Given the description of an element on the screen output the (x, y) to click on. 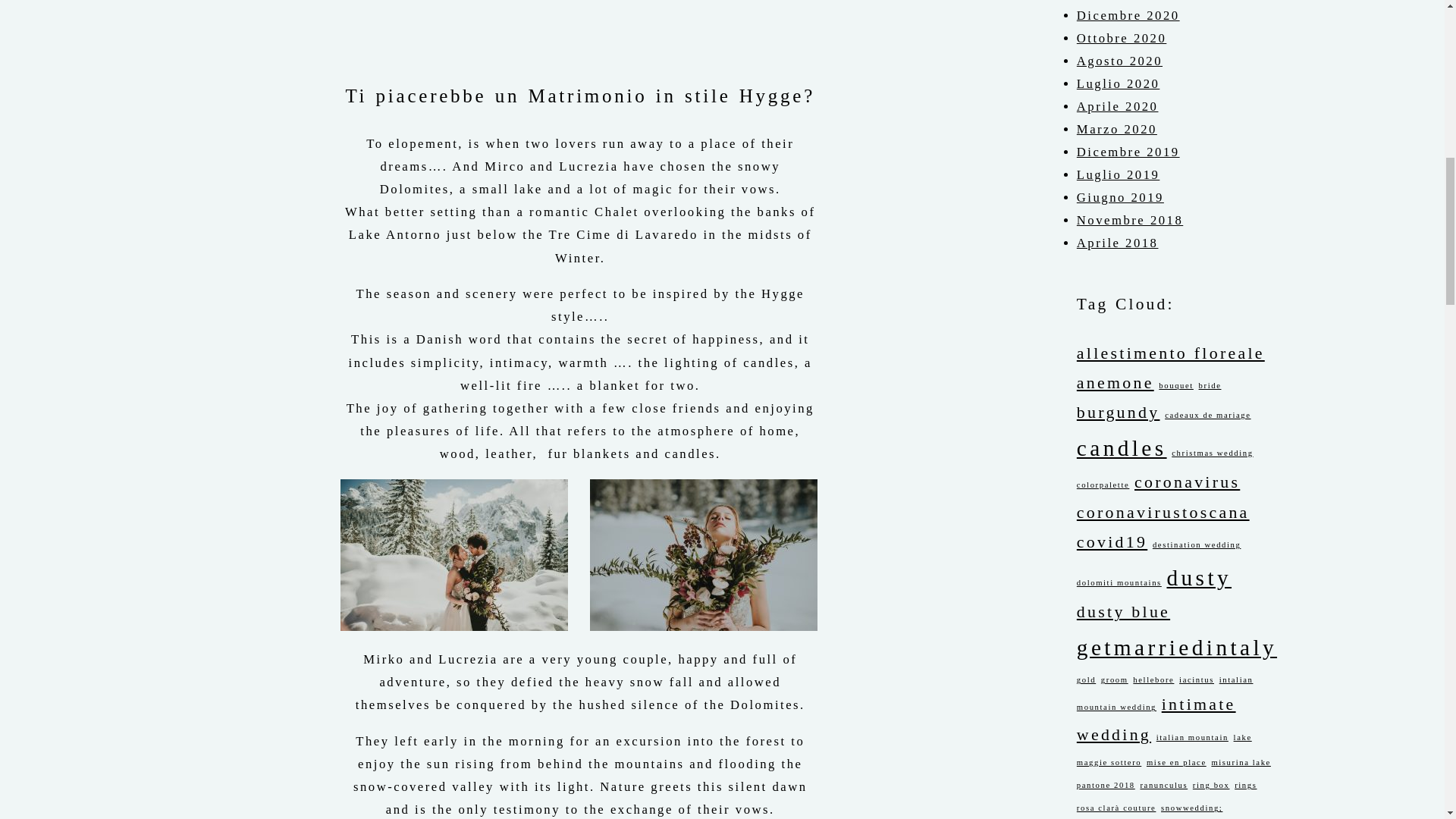
allestimento floreale (1171, 352)
Dicembre 2020 (1128, 15)
Luglio 2020 (1118, 83)
cadeaux de mariage (1207, 415)
Agosto 2020 (1119, 60)
Dicembre 2019 (1128, 151)
Aprile 2020 (1117, 106)
Novembre 2018 (1129, 219)
bride (1209, 385)
Aprile 2018 (1117, 242)
Ottobre 2020 (1121, 38)
christmas wedding (1212, 452)
bouquet (1175, 385)
burgundy (1118, 412)
Giugno 2019 (1120, 197)
